Given the description of an element on the screen output the (x, y) to click on. 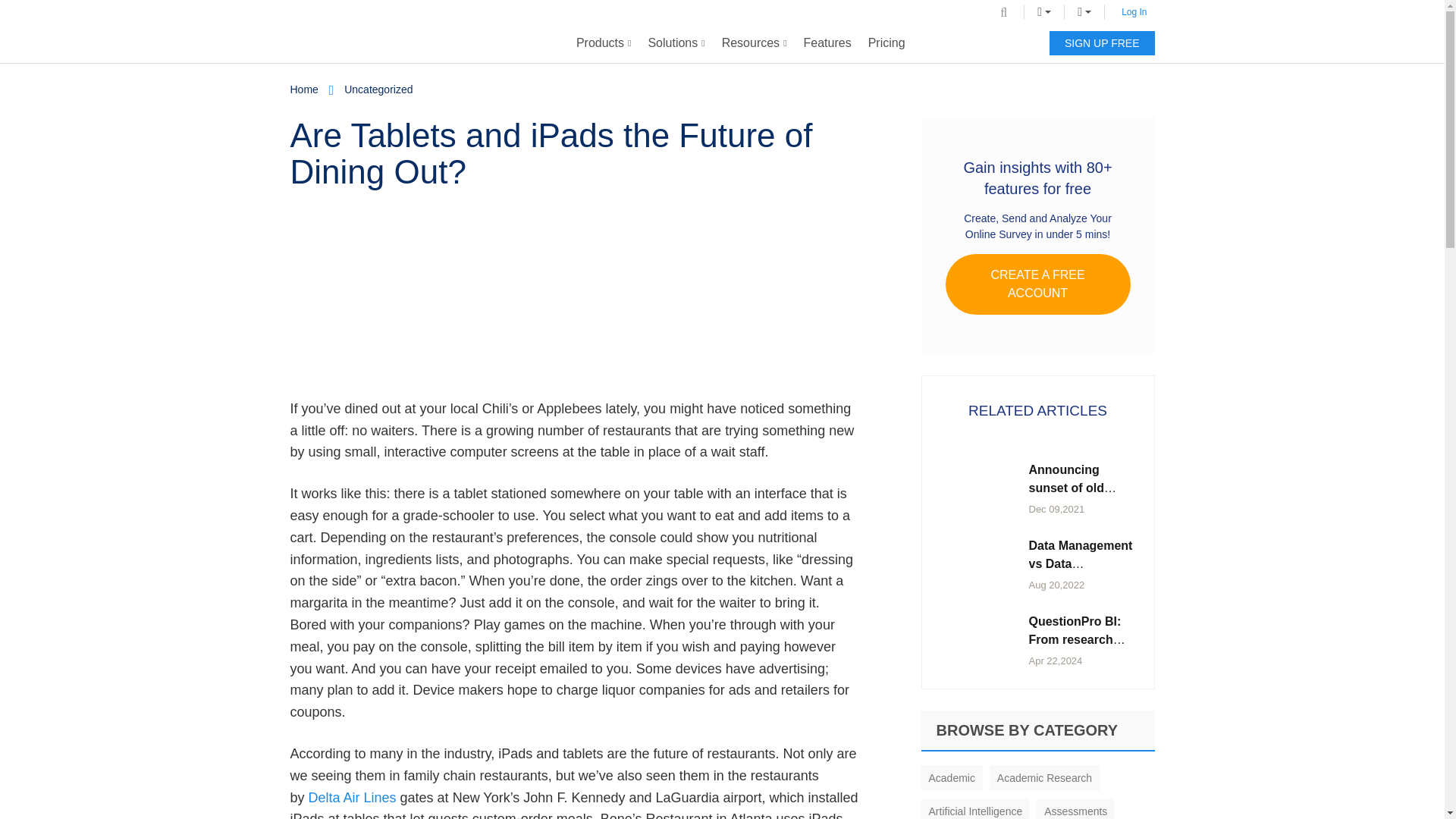
Features (827, 42)
More news, photos about Delta Air Lines (352, 797)
Products (603, 42)
Pricing (887, 42)
6E20DB8C3DF58217464ADFD4F911 (404, 289)
Resources (753, 42)
Solutions (676, 42)
